Given the description of an element on the screen output the (x, y) to click on. 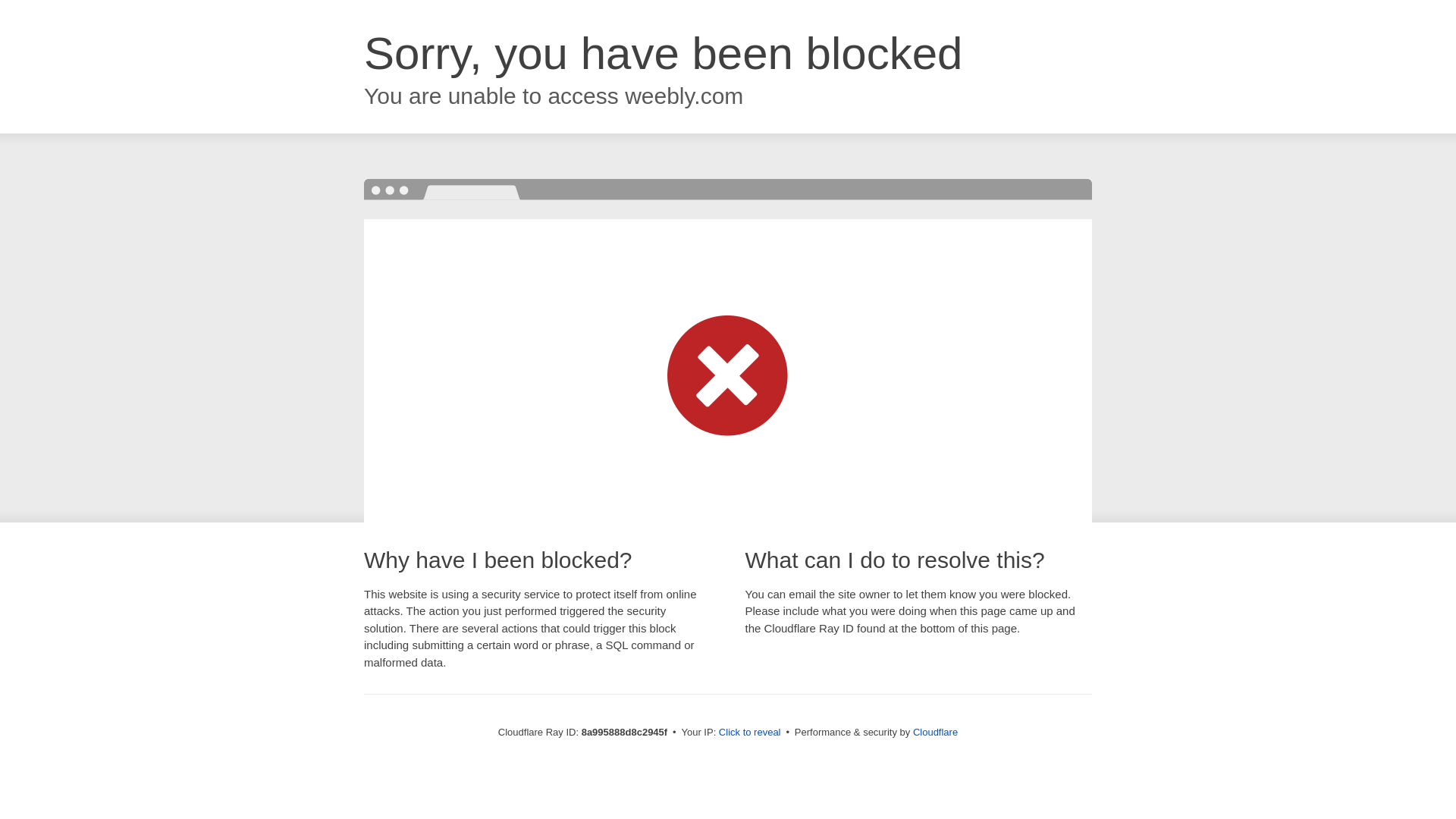
Cloudflare (935, 731)
Click to reveal (749, 732)
